Given the description of an element on the screen output the (x, y) to click on. 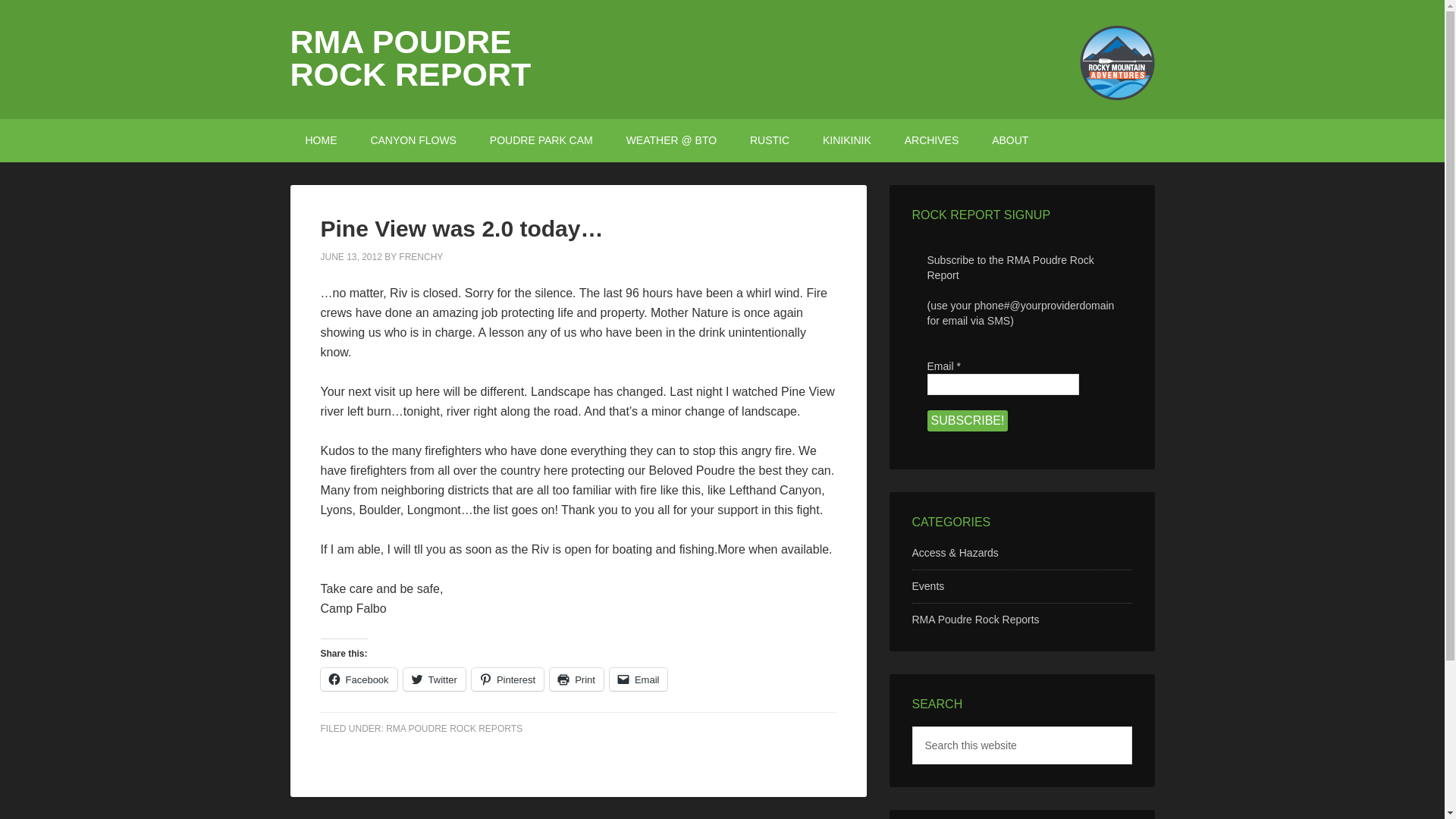
Click to email a link to a friend (639, 679)
ABOUT (1009, 140)
Facebook (358, 679)
Twitter (434, 679)
Subscribe! (966, 420)
KINIKINIK (847, 140)
RUSTIC (770, 140)
RMA Poudre Rock Reports (975, 619)
FRENCHY (420, 256)
CANYON FLOWS (413, 140)
Email (1002, 383)
RMA POUDRE ROCK REPORT (410, 57)
Email (639, 679)
HOME (320, 140)
